Given the description of an element on the screen output the (x, y) to click on. 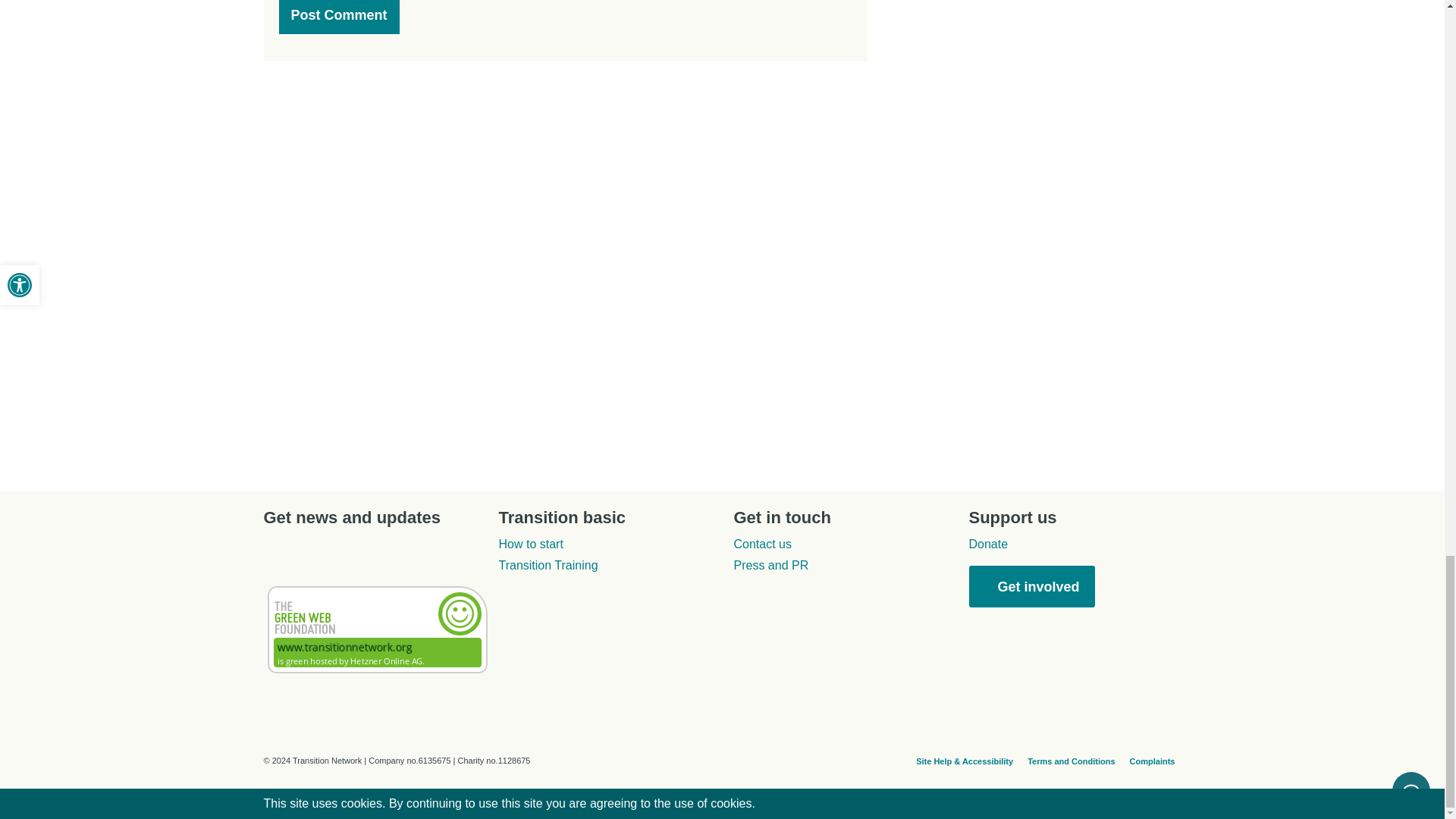
Post Comment (338, 17)
